Given the description of an element on the screen output the (x, y) to click on. 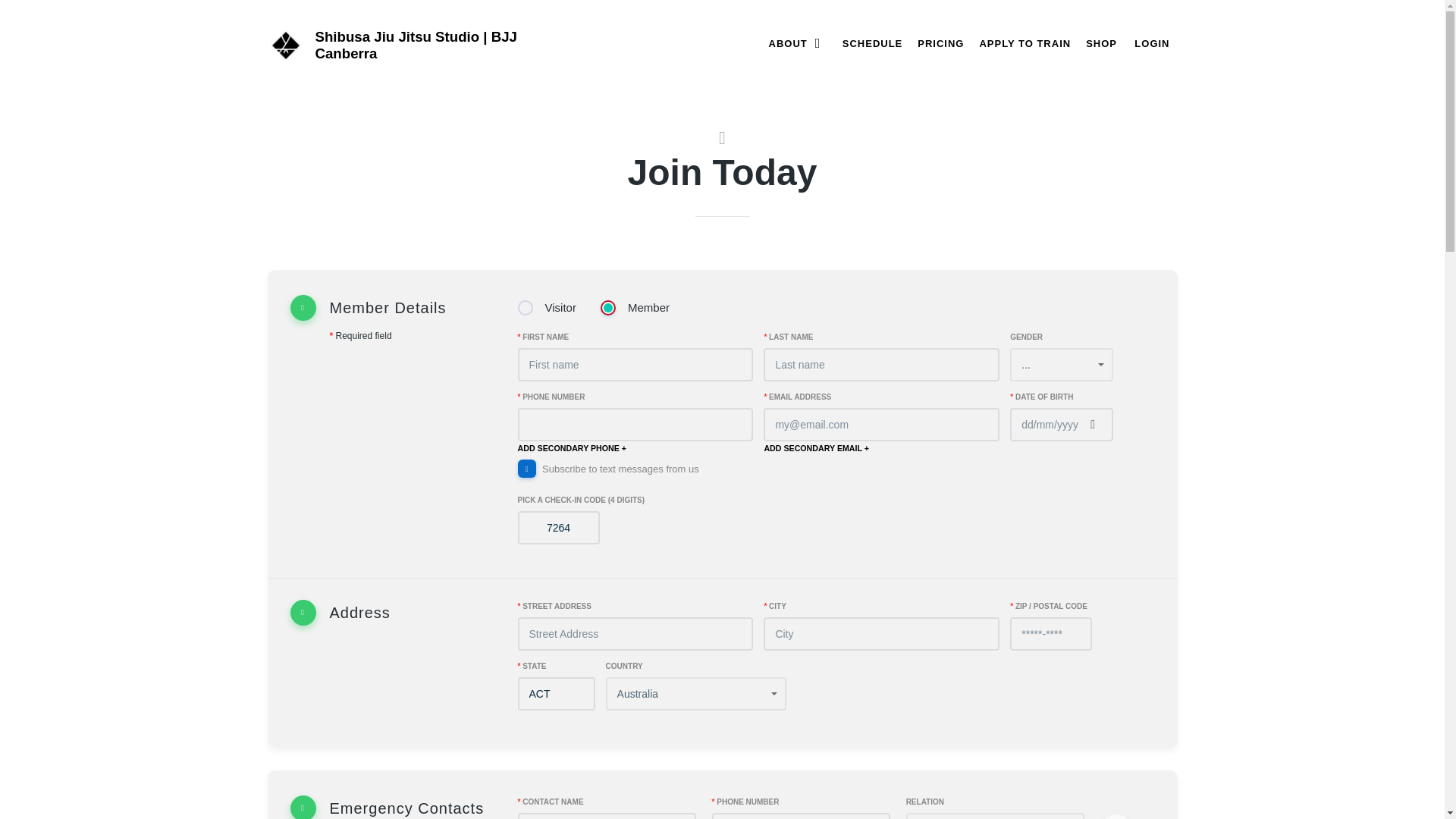
7264 (557, 527)
Apply to Train (1024, 43)
ACT (555, 693)
Pricing (940, 43)
PRICING (940, 43)
Shop (1101, 43)
LOGIN (1151, 43)
Schedule (872, 43)
SHOP (1101, 43)
APPLY TO TRAIN (1024, 43)
SCHEDULE (872, 43)
